Given the description of an element on the screen output the (x, y) to click on. 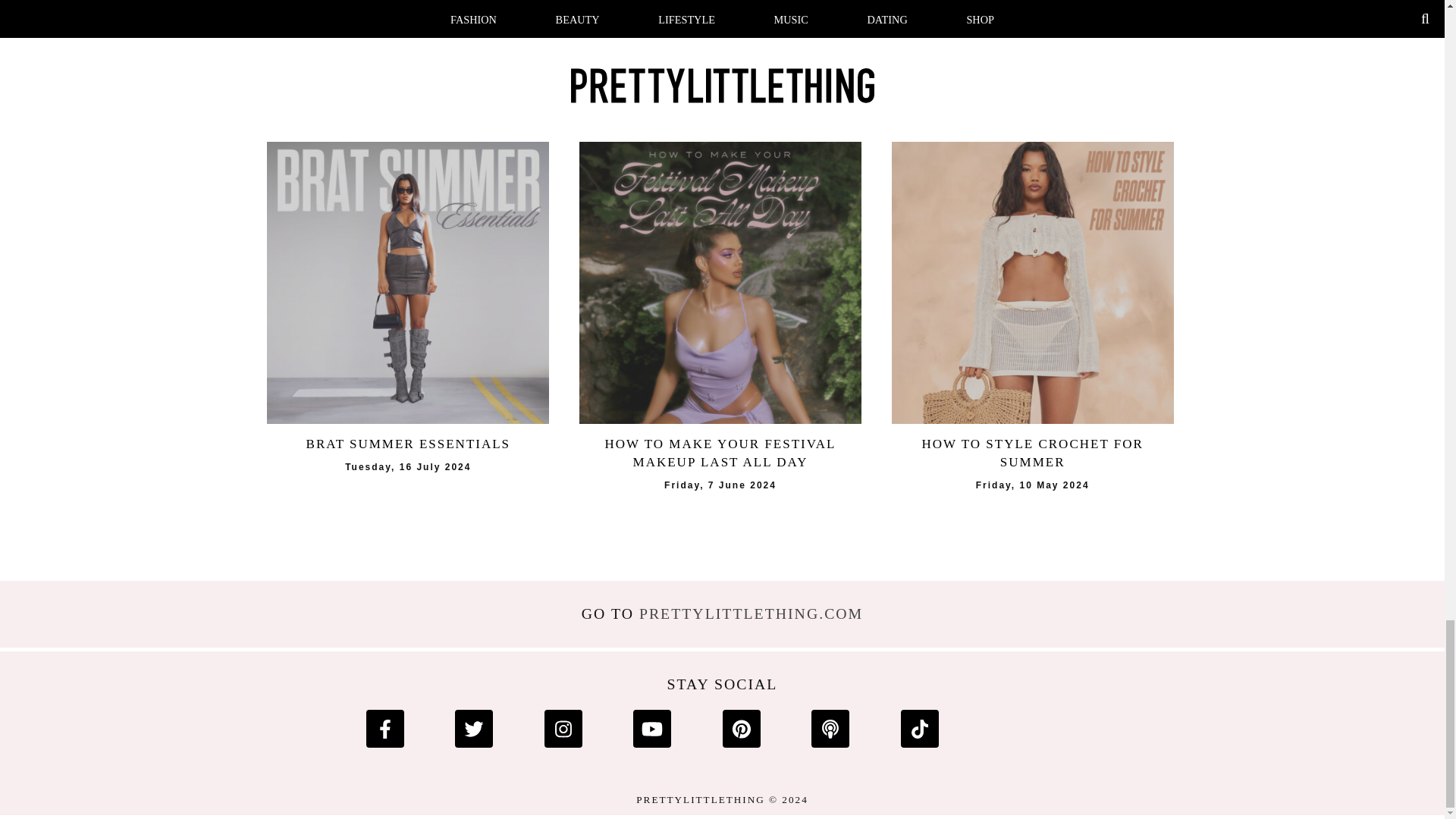
BRAT SUMMER ESSENTIALS (407, 443)
Brat Summer Essentials (407, 282)
PRETTYLITTLETHING.COM (751, 613)
How To Style Crochet For Summer (1032, 282)
HOW TO STYLE CROCHET FOR SUMMER (1032, 452)
How To Make Your Festival Makeup Last All Day (720, 282)
HOW TO MAKE YOUR FESTIVAL MAKEUP LAST ALL DAY (721, 44)
